Given the description of an element on the screen output the (x, y) to click on. 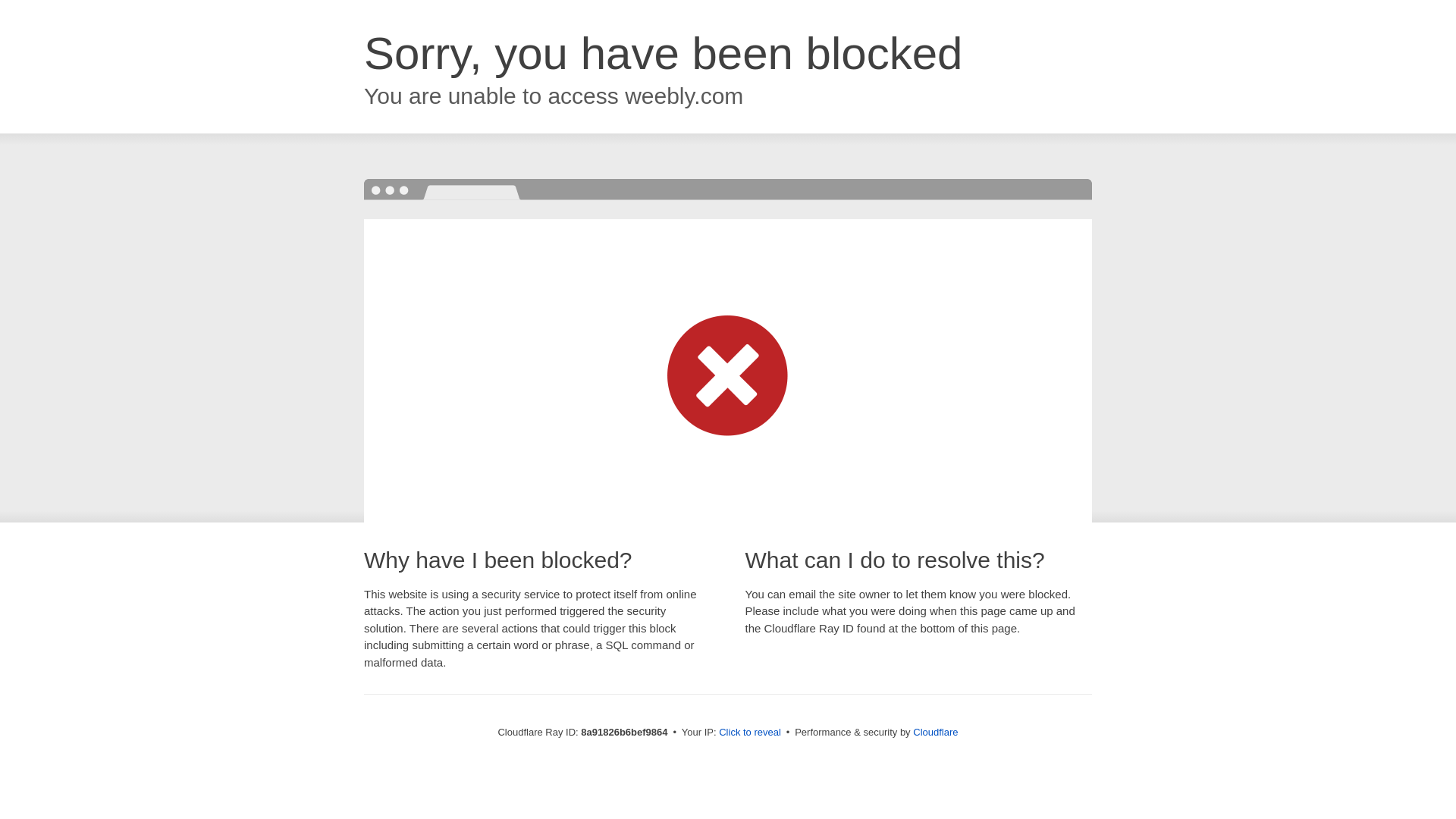
Click to reveal (749, 732)
Cloudflare (935, 731)
